Given the description of an element on the screen output the (x, y) to click on. 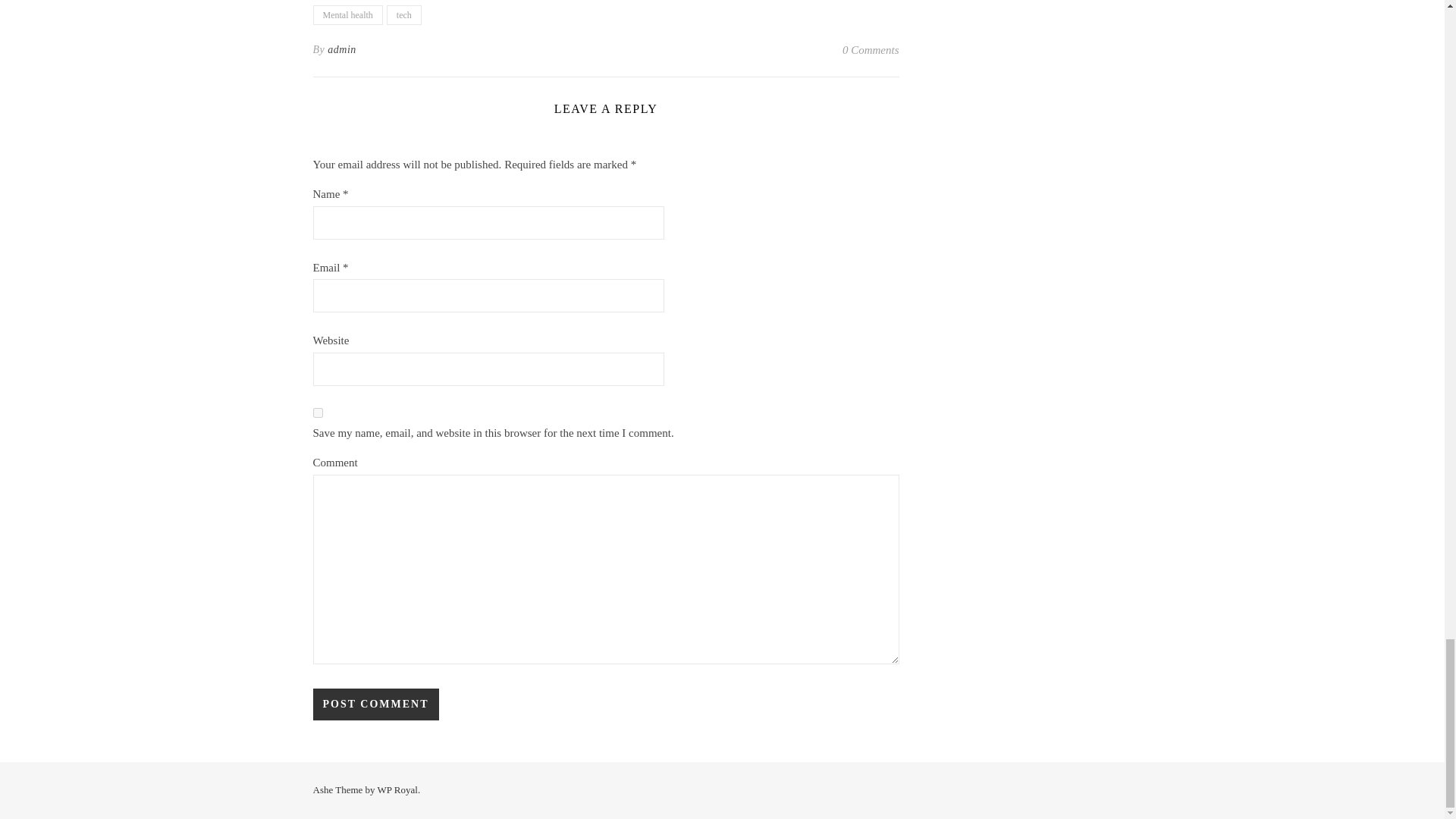
yes (317, 412)
Posts by admin (341, 49)
Post Comment (375, 704)
